Given the description of an element on the screen output the (x, y) to click on. 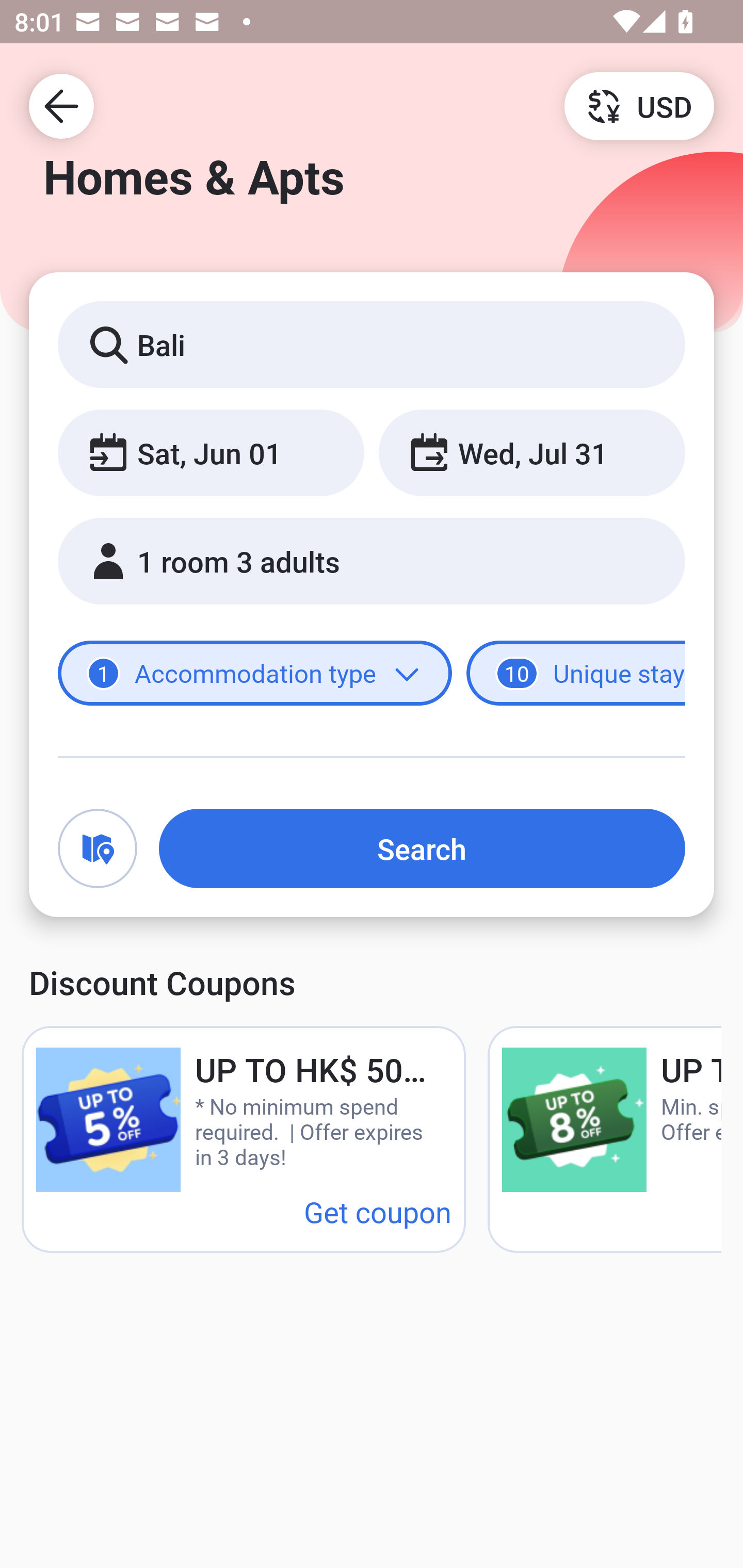
USD (639, 105)
Bali (371, 344)
Sat, Jun 01 (210, 452)
Wed, Jul 31 (531, 452)
1 room 3 adults (371, 561)
1 Accommodation type (254, 673)
10 Unique stays (575, 673)
Search (422, 848)
Get coupon (377, 1211)
